Given the description of an element on the screen output the (x, y) to click on. 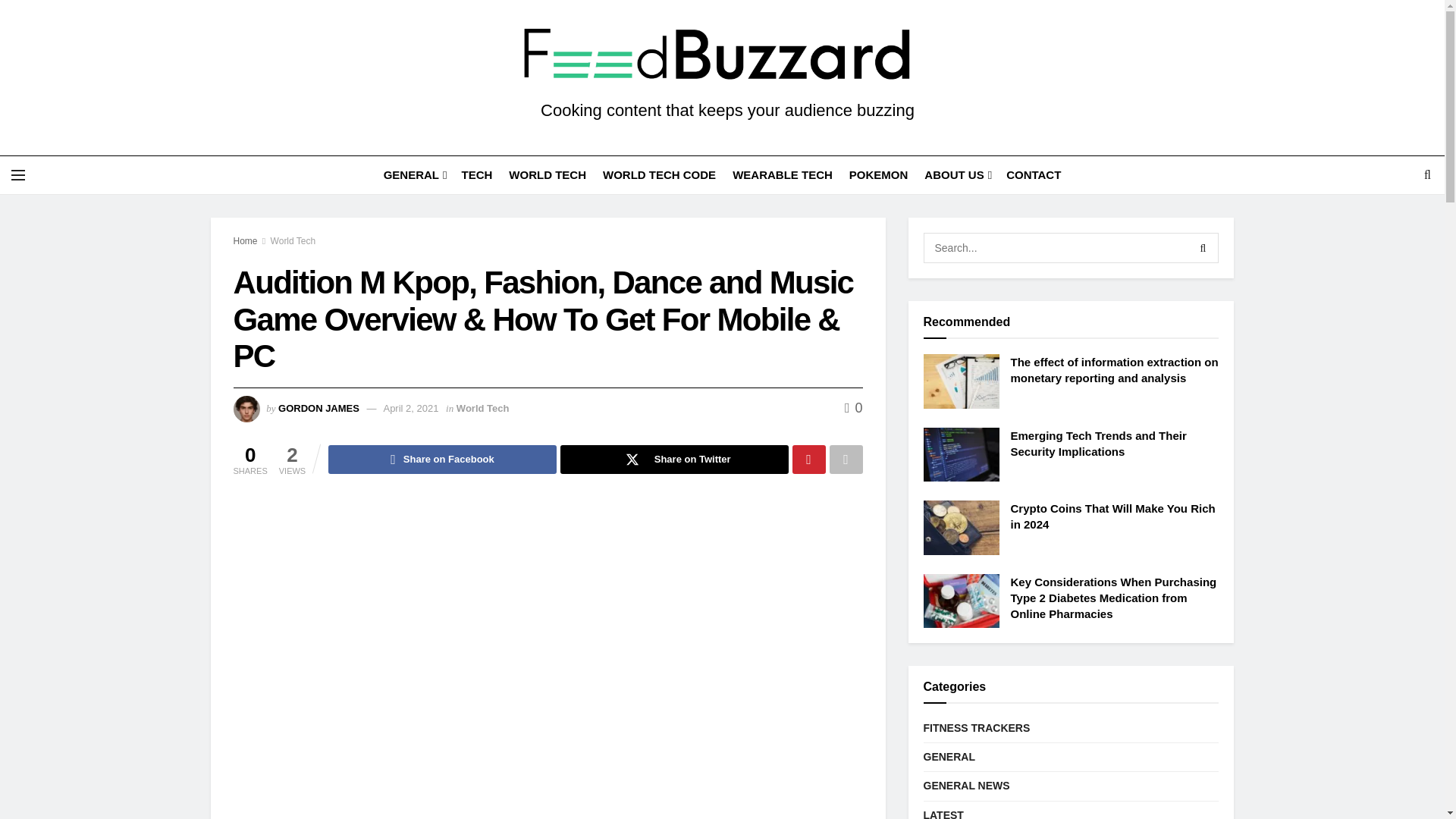
CONTACT (1033, 174)
World Tech (483, 408)
WORLD TECH CODE (659, 174)
World Tech (292, 240)
0 (853, 407)
ABOUT US (957, 174)
WEARABLE TECH (782, 174)
April 2, 2021 (410, 408)
GENERAL (414, 174)
Home (244, 240)
